Given the description of an element on the screen output the (x, y) to click on. 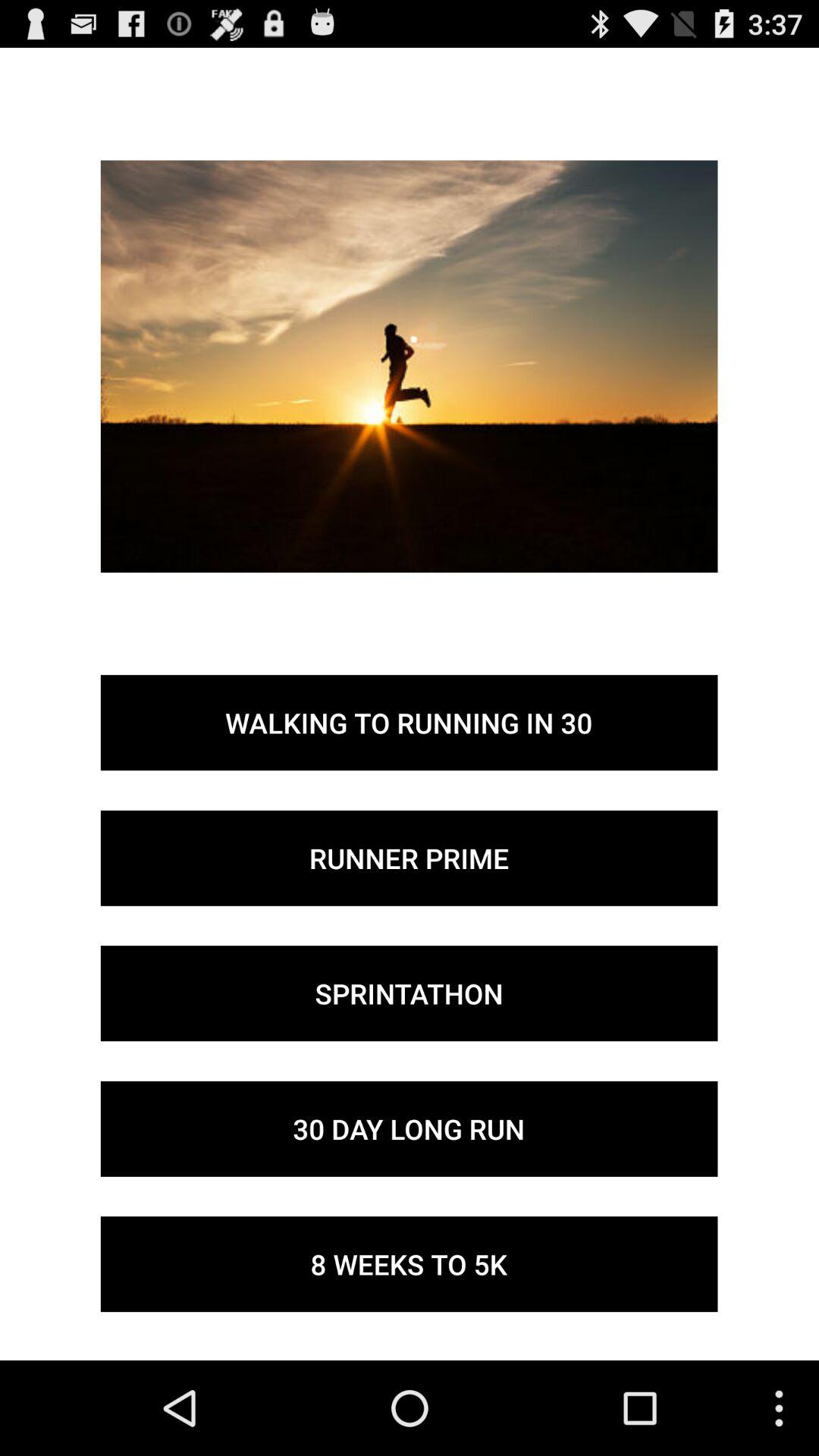
swipe until 30 day long icon (408, 1128)
